Given the description of an element on the screen output the (x, y) to click on. 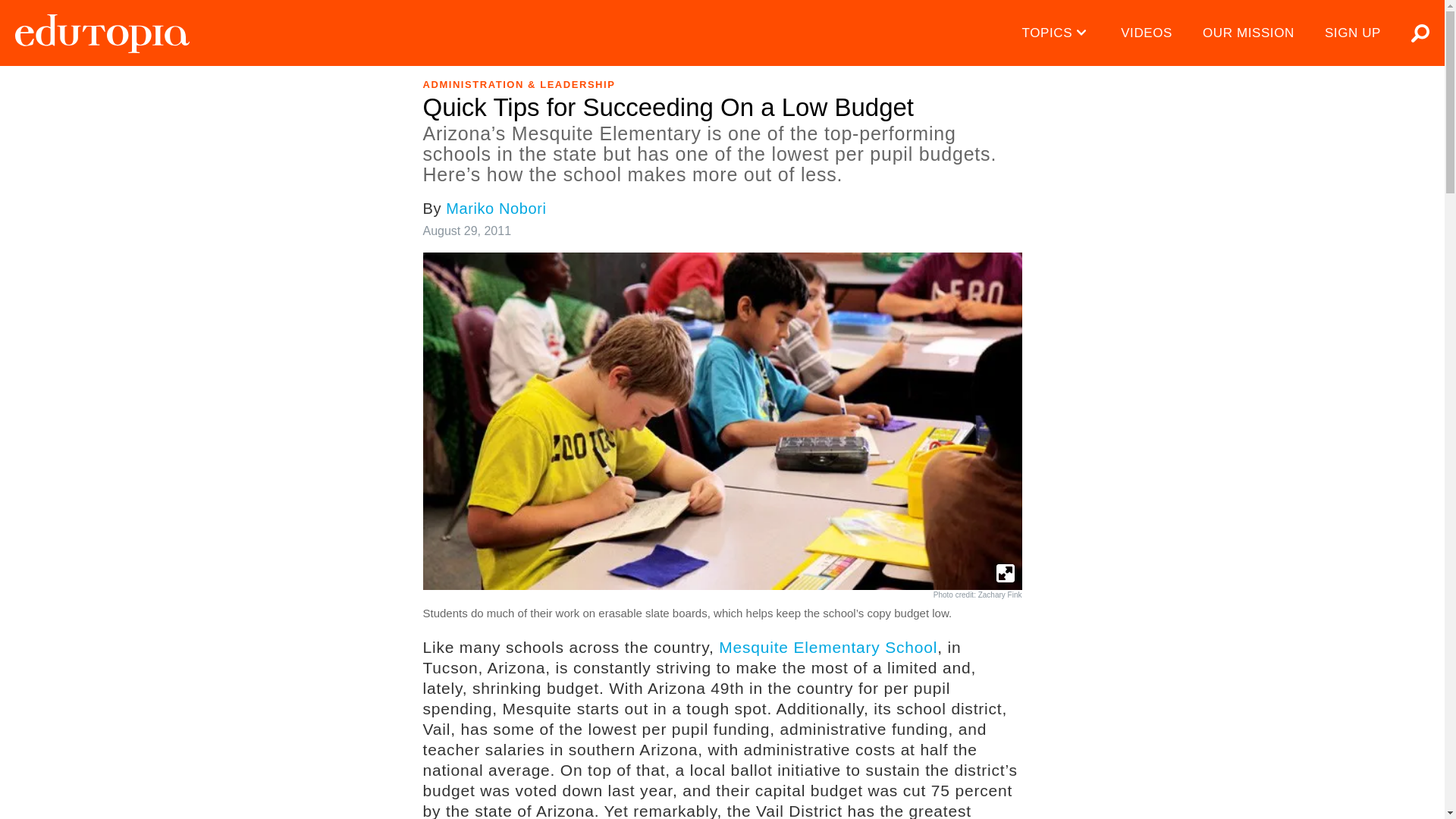
VIDEOS (1146, 33)
Mariko Nobori (495, 208)
SIGN UP (1352, 33)
Mesquite Elementary School (828, 647)
TOPICS (1056, 33)
Edutopia (101, 33)
Edutopia (101, 33)
OUR MISSION (1248, 33)
